Given the description of an element on the screen output the (x, y) to click on. 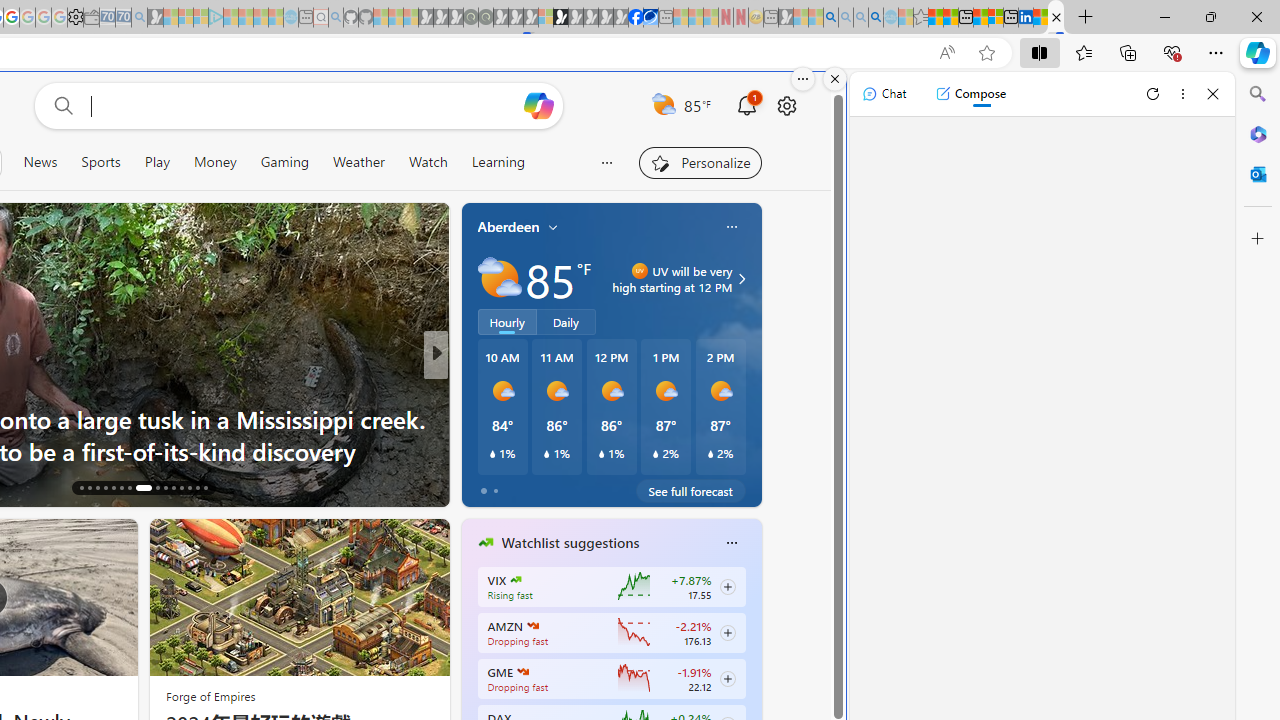
News (40, 162)
Future Focus Report 2024 - Sleeping (485, 17)
UV will be very high starting at 12 PM (739, 278)
Enter your search term (303, 106)
AutomationID: tab-25 (165, 487)
tab-1 (494, 490)
Money (214, 162)
The Largest Hammerhead Shark Ever Seen (758, 450)
AutomationID: tab-27 (180, 487)
Compose (970, 93)
Aberdeen, Hong Kong SAR weather forecast | Microsoft Weather (950, 17)
